Given the description of an element on the screen output the (x, y) to click on. 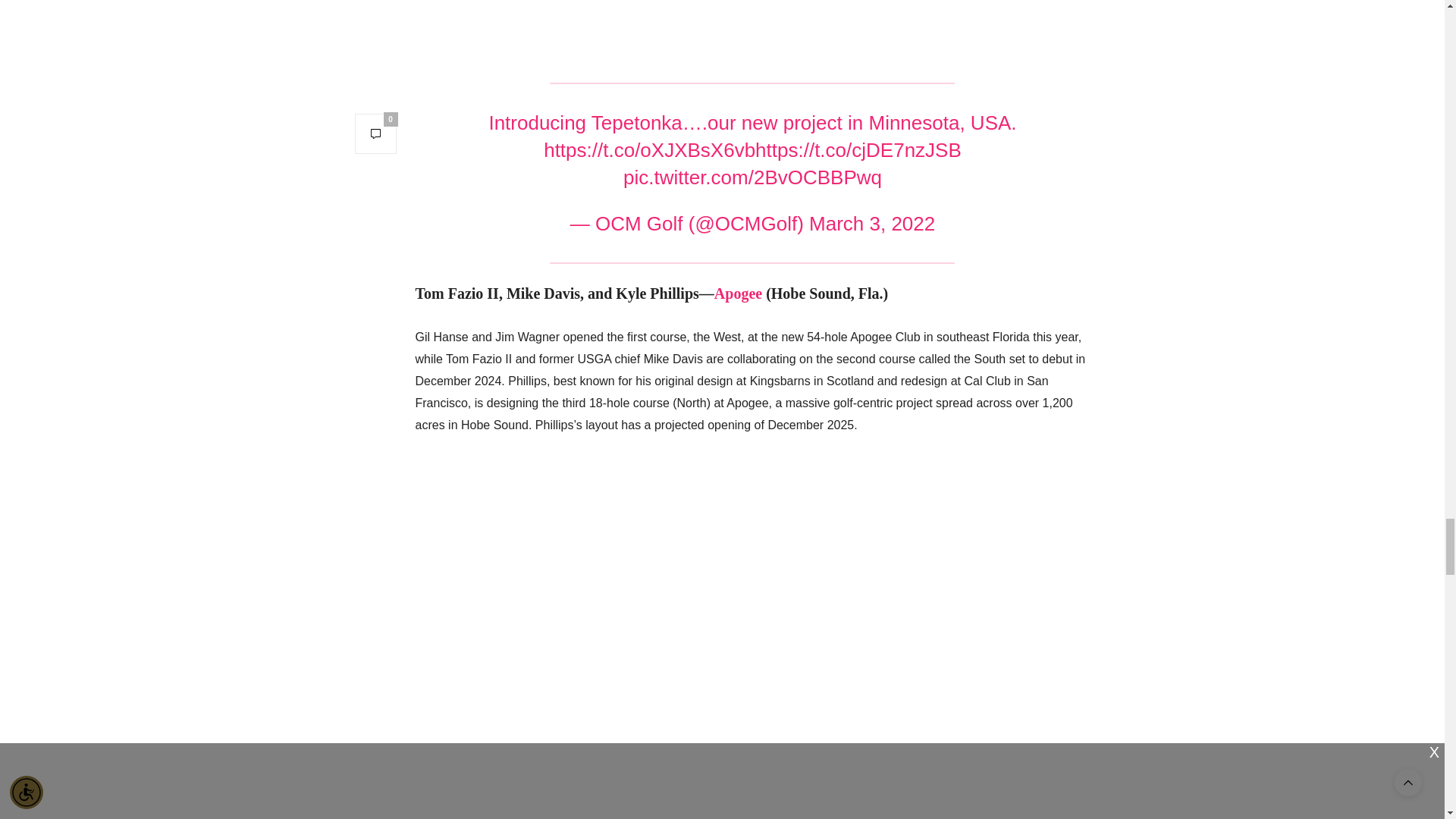
3rd party ad content (751, 22)
